Given the description of an element on the screen output the (x, y) to click on. 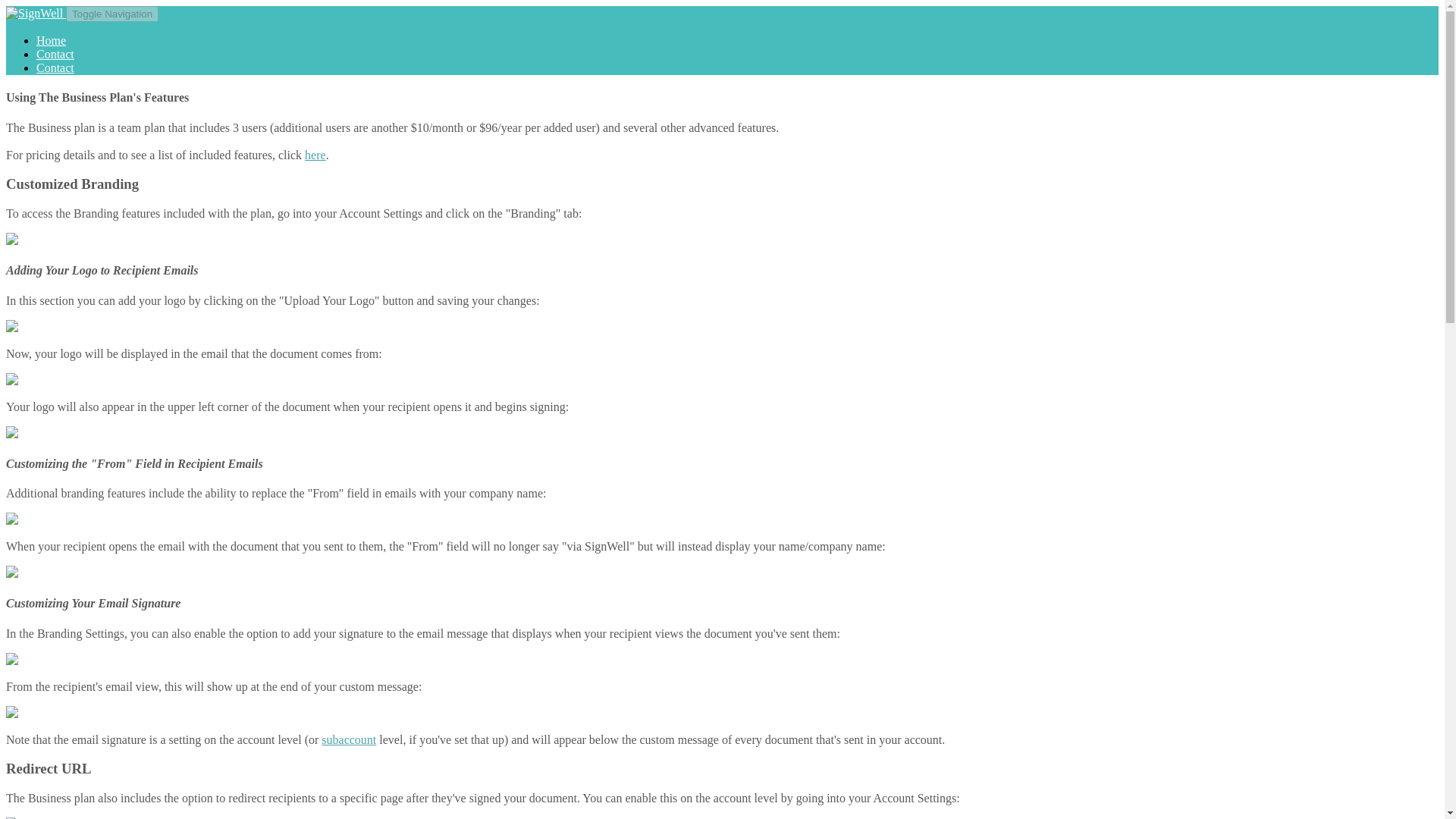
Home (50, 40)
Contact (55, 67)
here (315, 154)
Toggle Navigation (111, 13)
subaccount (348, 739)
Contact (55, 53)
